Given the description of an element on the screen output the (x, y) to click on. 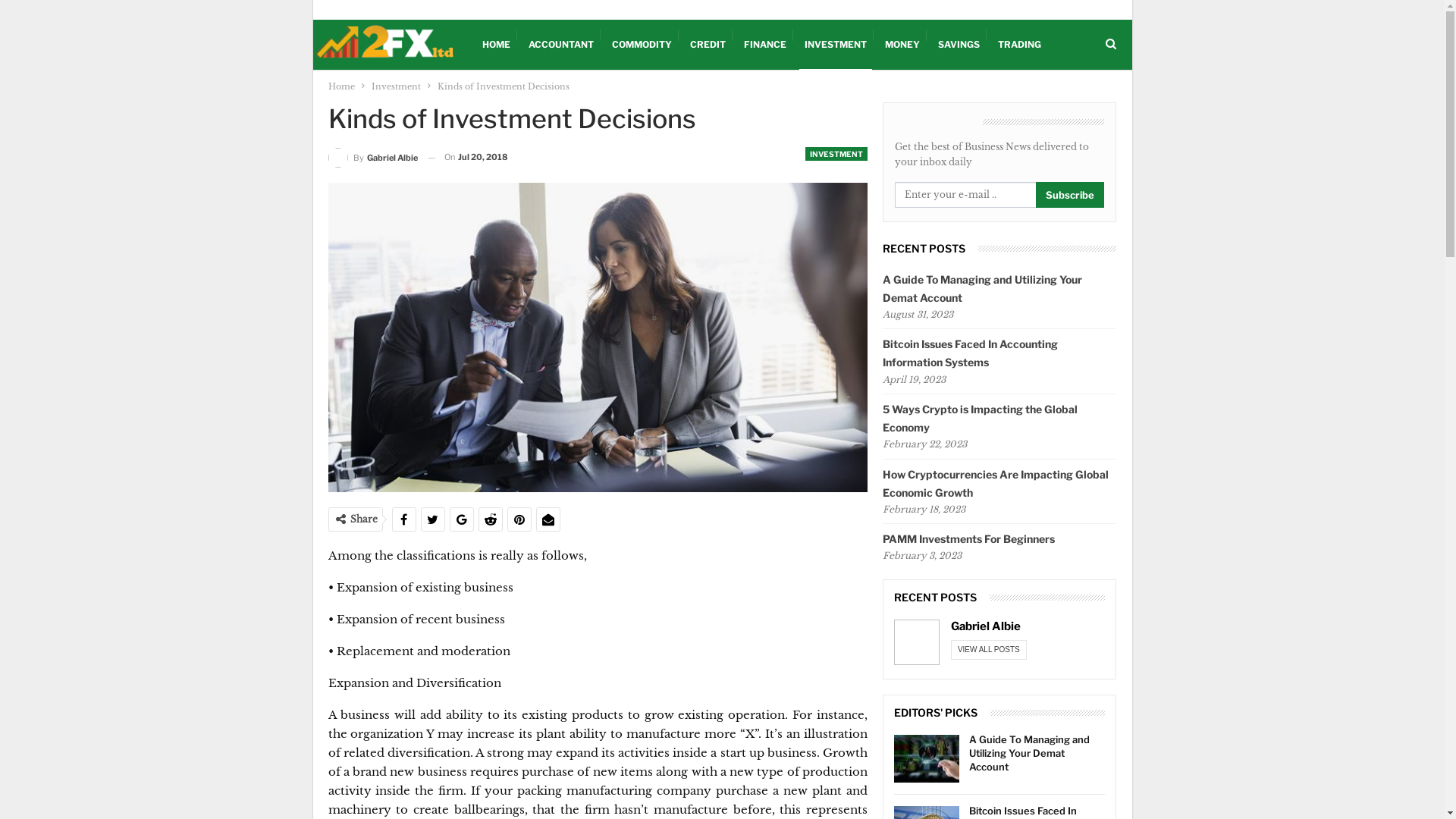
ACCOUNTANT Element type: text (561, 44)
INVESTMENT Element type: text (835, 44)
INVESTMENT Element type: text (836, 153)
Home Element type: text (340, 86)
PAMM Investments For Beginners Element type: text (968, 538)
MONEY Element type: text (902, 44)
A Guide To Managing and Utilizing Your Demat Account Element type: text (1029, 752)
How Cryptocurrencies Are Impacting Global Economic Growth Element type: text (995, 482)
FINANCE Element type: text (764, 44)
CREDIT Element type: text (707, 44)
SEND US EMAIL Element type: text (356, 9)
COMMODITY Element type: text (641, 44)
A Guide To Managing and Utilizing Your Demat Account Element type: hover (926, 758)
5 Ways Crypto is Impacting the Global Economy Element type: text (979, 417)
Bitcoin Issues Faced In Accounting Information Systems Element type: text (969, 352)
SAVINGS Element type: text (958, 44)
TRADING Element type: text (1018, 44)
Investment Element type: text (395, 86)
Subscribe Element type: text (1069, 194)
HOME Element type: text (495, 44)
VIEW ALL POSTS Element type: text (988, 649)
By Gabriel Albie Element type: text (372, 157)
A Guide To Managing and Utilizing Your Demat Account Element type: text (982, 288)
